Given the description of an element on the screen output the (x, y) to click on. 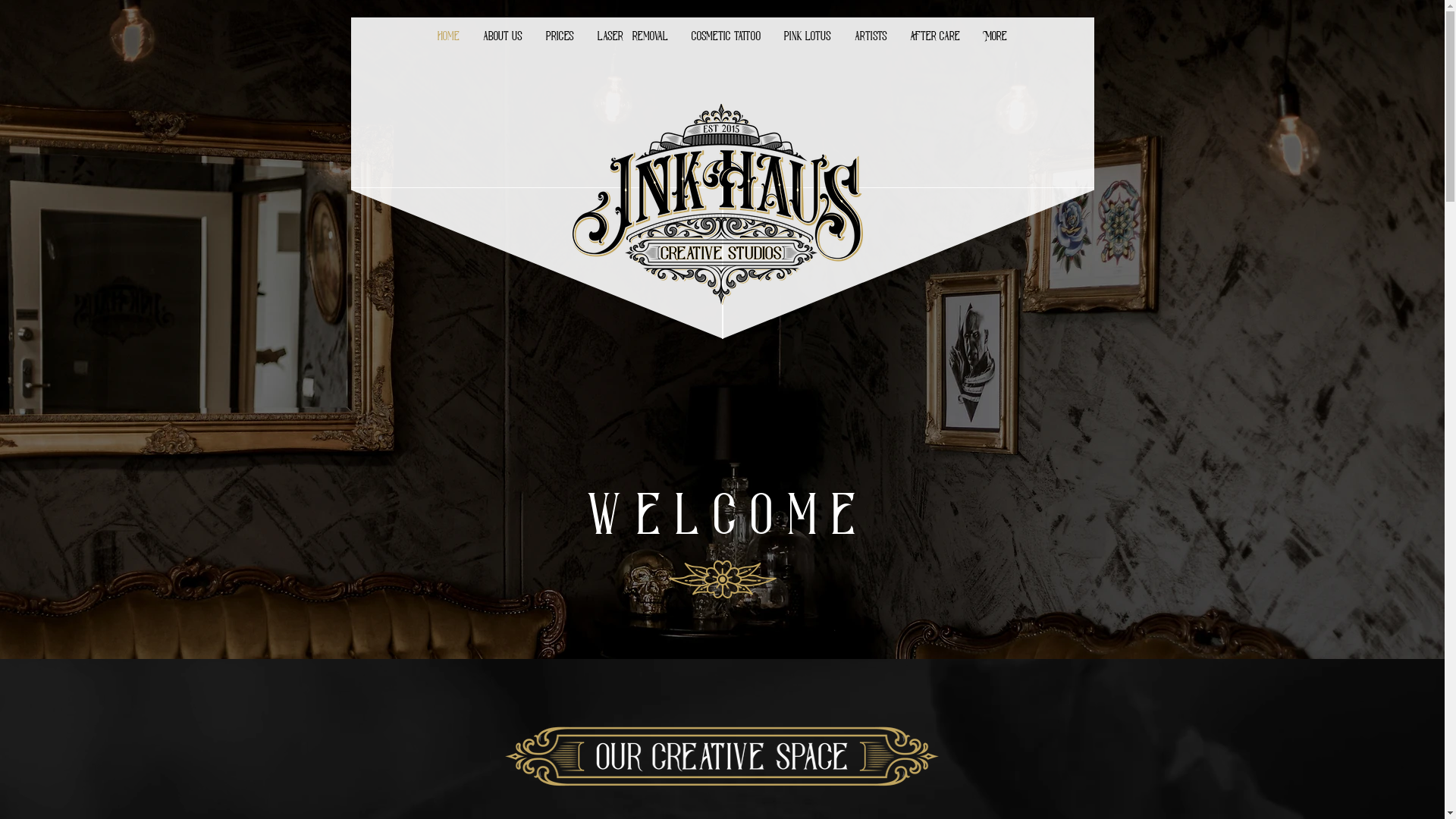
artists Element type: text (870, 36)
cosmetic tattoo Element type: text (725, 36)
after care Element type: text (933, 36)
prices Element type: text (559, 36)
pink lotus Element type: text (806, 36)
home Element type: text (448, 36)
about us Element type: text (502, 36)
ourcreativespace.png Element type: hover (721, 755)
